Given the description of an element on the screen output the (x, y) to click on. 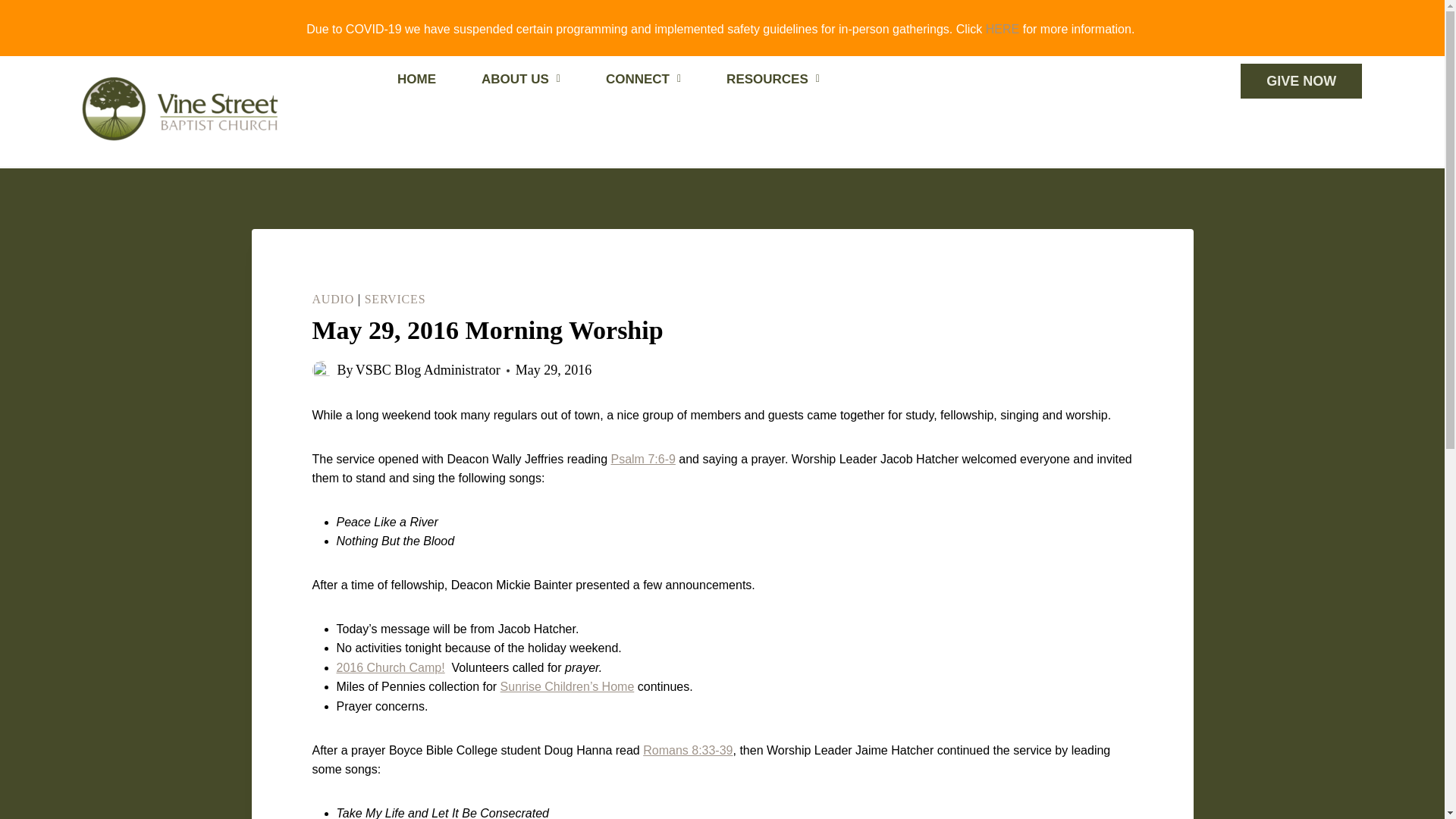
ABOUT US (520, 79)
HERE (1002, 29)
Psalm 7:6-9 (642, 459)
2016 Church Camp! (390, 667)
RESOURCES (773, 79)
CONNECT (643, 79)
AUDIO (334, 298)
HOME (416, 79)
GIVE NOW (1300, 80)
Romans 8:33-39 (687, 749)
